Given the description of an element on the screen output the (x, y) to click on. 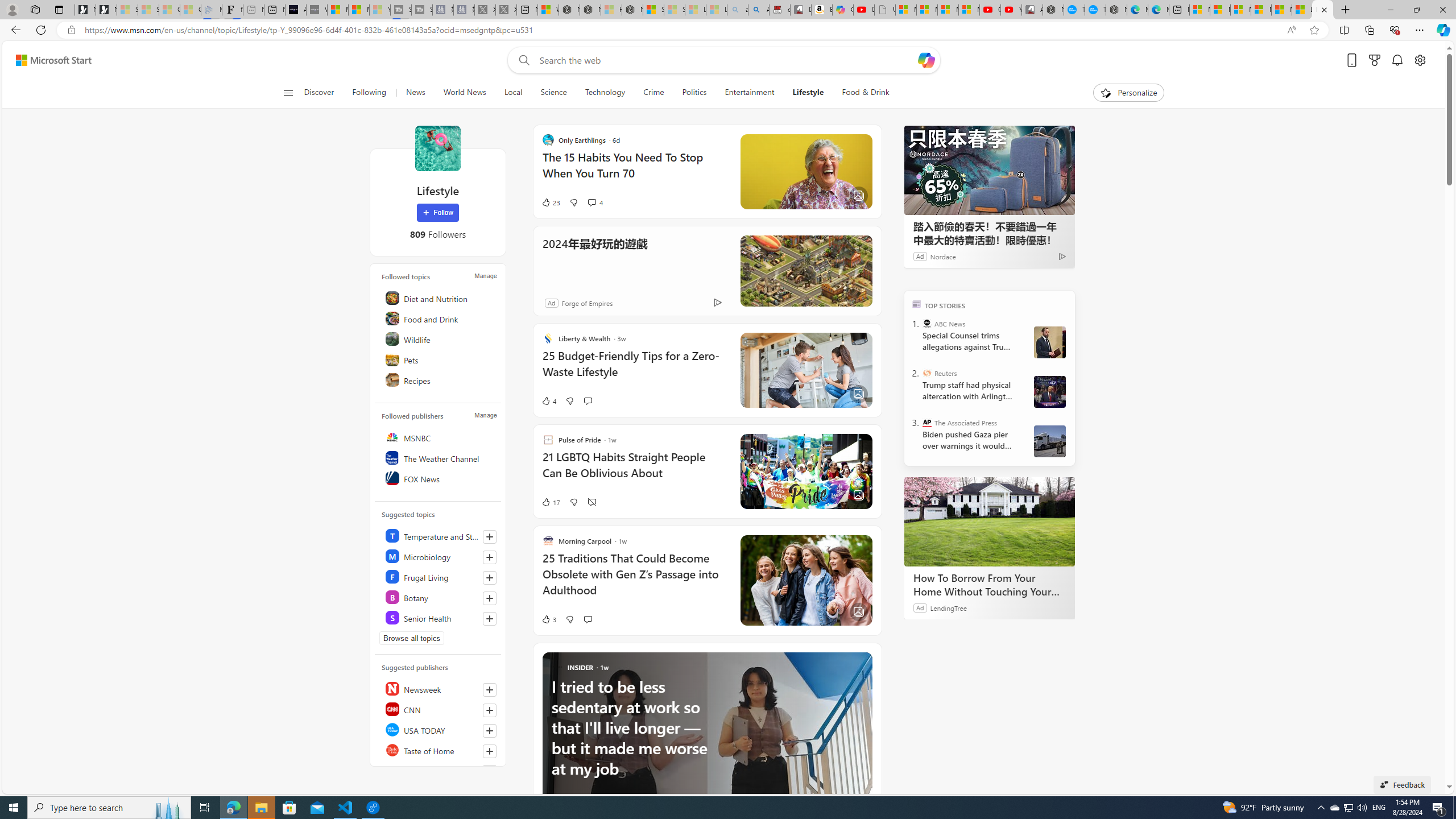
Dislike (569, 619)
Comments turned off for this story (591, 501)
Technology (604, 92)
FOX News (439, 478)
Ad (551, 302)
Politics (694, 92)
Follow (437, 212)
Microsoft Start Sports (337, 9)
Class: button-glyph (287, 92)
Nordace - Nordace has arrived Hong Kong (1115, 9)
Following (368, 92)
